Given the description of an element on the screen output the (x, y) to click on. 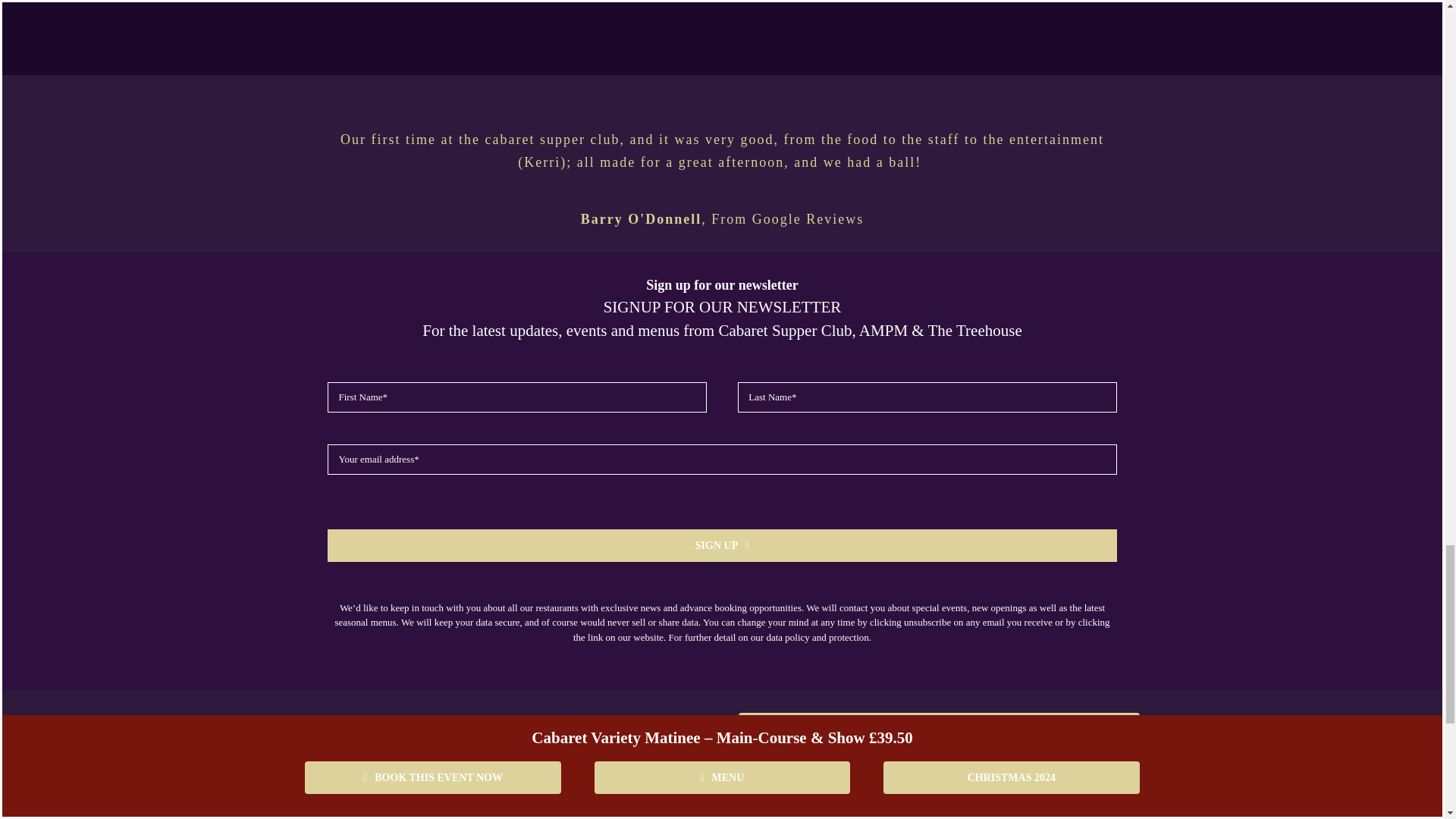
YouTube (896, 787)
Instagram (804, 787)
LinkedIn (989, 787)
Tiktok (942, 787)
Facebook (757, 787)
X (850, 787)
